Given the description of an element on the screen output the (x, y) to click on. 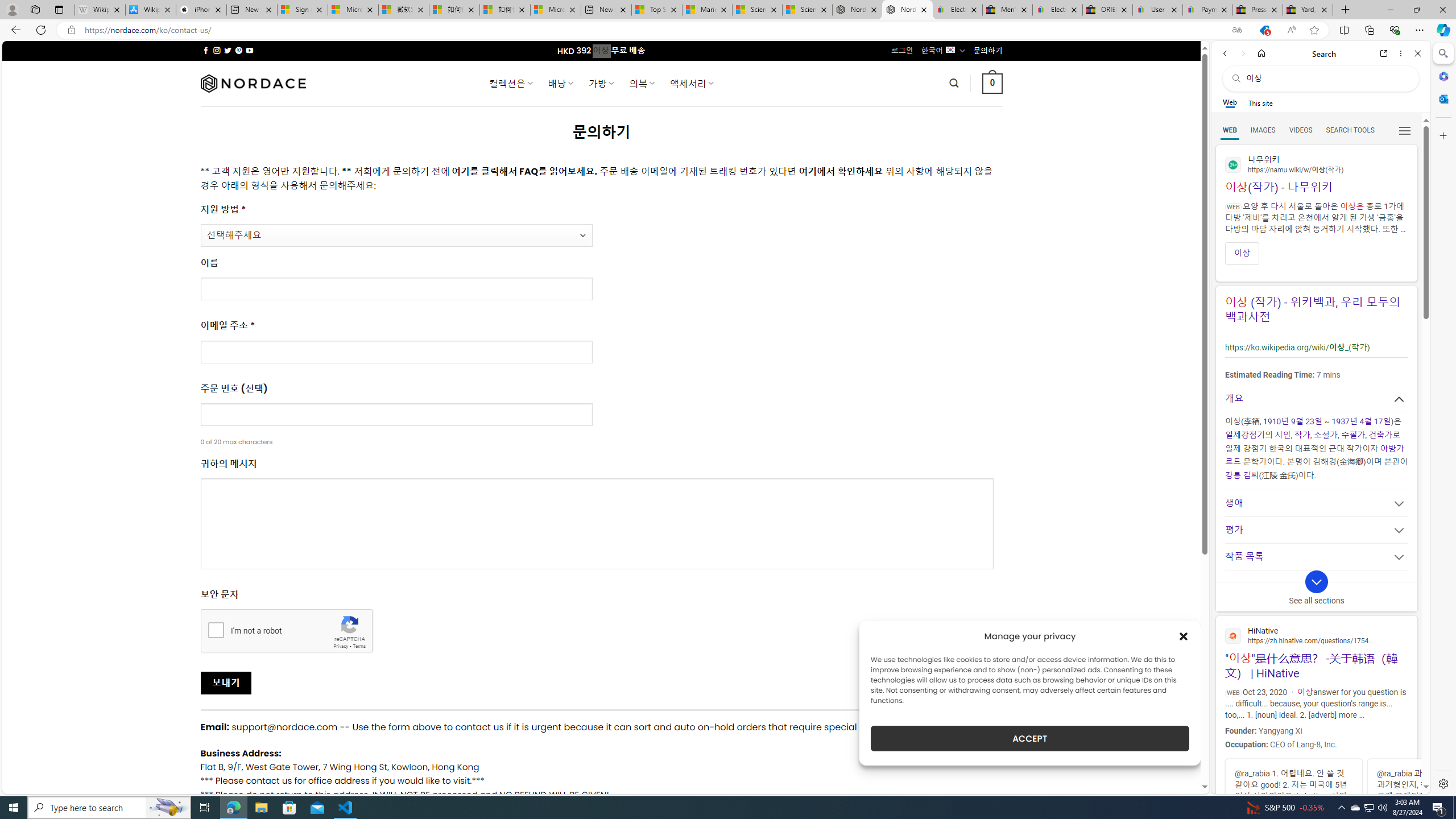
Terms (359, 646)
Follow on Facebook (205, 50)
Class: b_serphb (1404, 130)
WEB   (1230, 130)
